Given the description of an element on the screen output the (x, y) to click on. 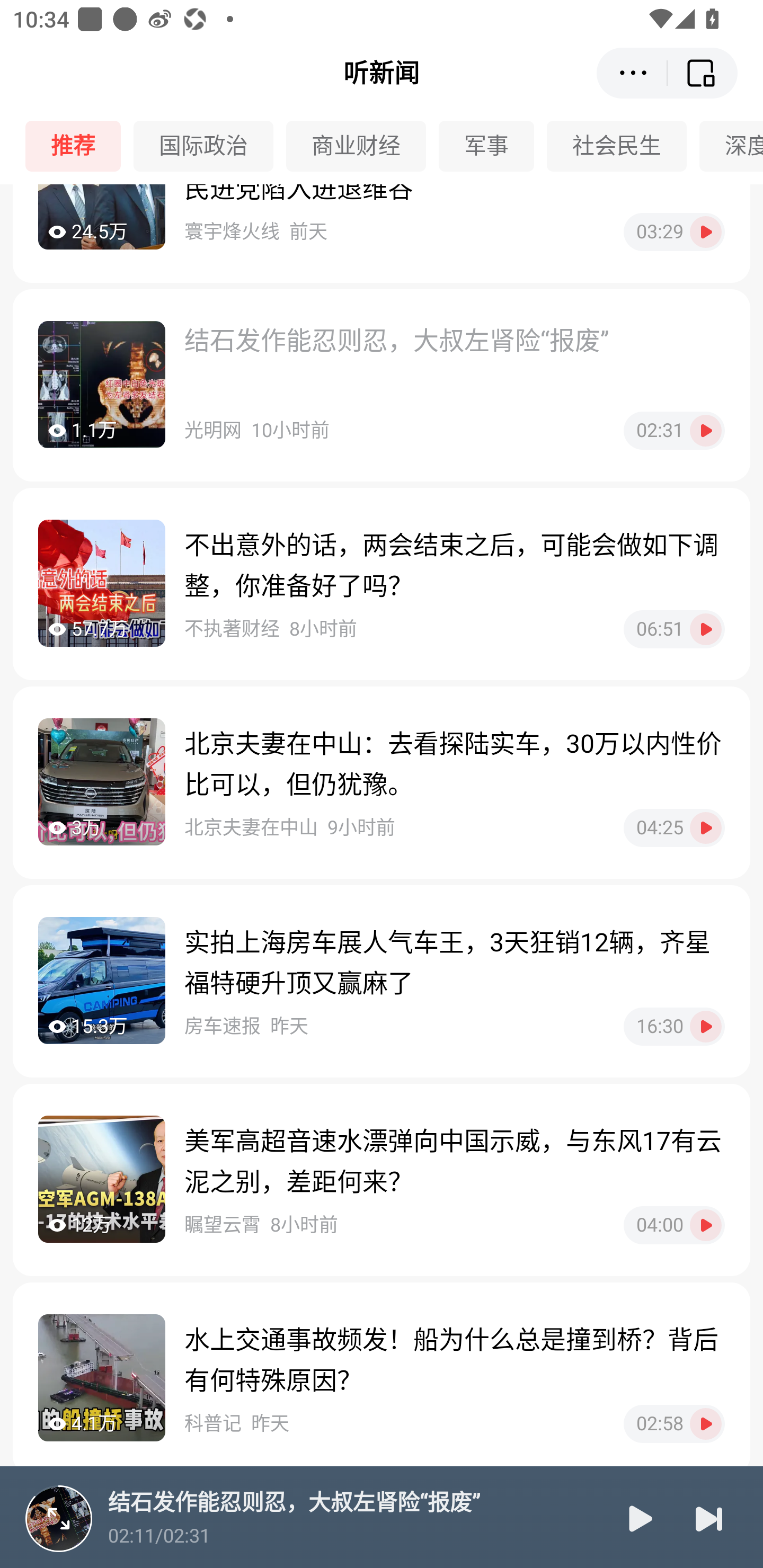
更多 (631, 72)
返回 (702, 72)
推荐 (79, 146)
国际政治 (209, 146)
商业财经 (362, 146)
军事 (492, 146)
社会民生 (623, 146)
24.5万 台岛军头跳出来，给解放军划红线，专家坦言：民进党陷入进退维谷 寰宇烽火线前天 03:29 (381, 233)
03:29 (673, 231)
1.1万 结石发作能忍则忍，大叔左肾险“报废” 光明网10小时前 02:31 (381, 384)
02:31 (673, 430)
06:51 (673, 629)
04:25 (673, 827)
15.3万 实拍上海房车展人气车王，3天狂销12辆，齐星福特硬升顶又赢麻了 房车速报昨天 16:30 (381, 981)
16:30 (673, 1026)
12万 美军高超音速水漂弹向中国示威，与东风17有云泥之别，差距何来？ 瞩望云霄8小时前 04:00 (381, 1179)
04:00 (673, 1224)
4.1万 水上交通事故频发！船为什么总是撞到桥？背后有何特殊原因？ 科普记昨天 02:58 (381, 1378)
02:58 (673, 1423)
音频播放页 结石发作能忍则忍，大叔左肾险“报废” 02:11/02:31 播放 下一篇 (381, 1517)
播放 (638, 1518)
下一篇 (708, 1518)
